Given the description of an element on the screen output the (x, y) to click on. 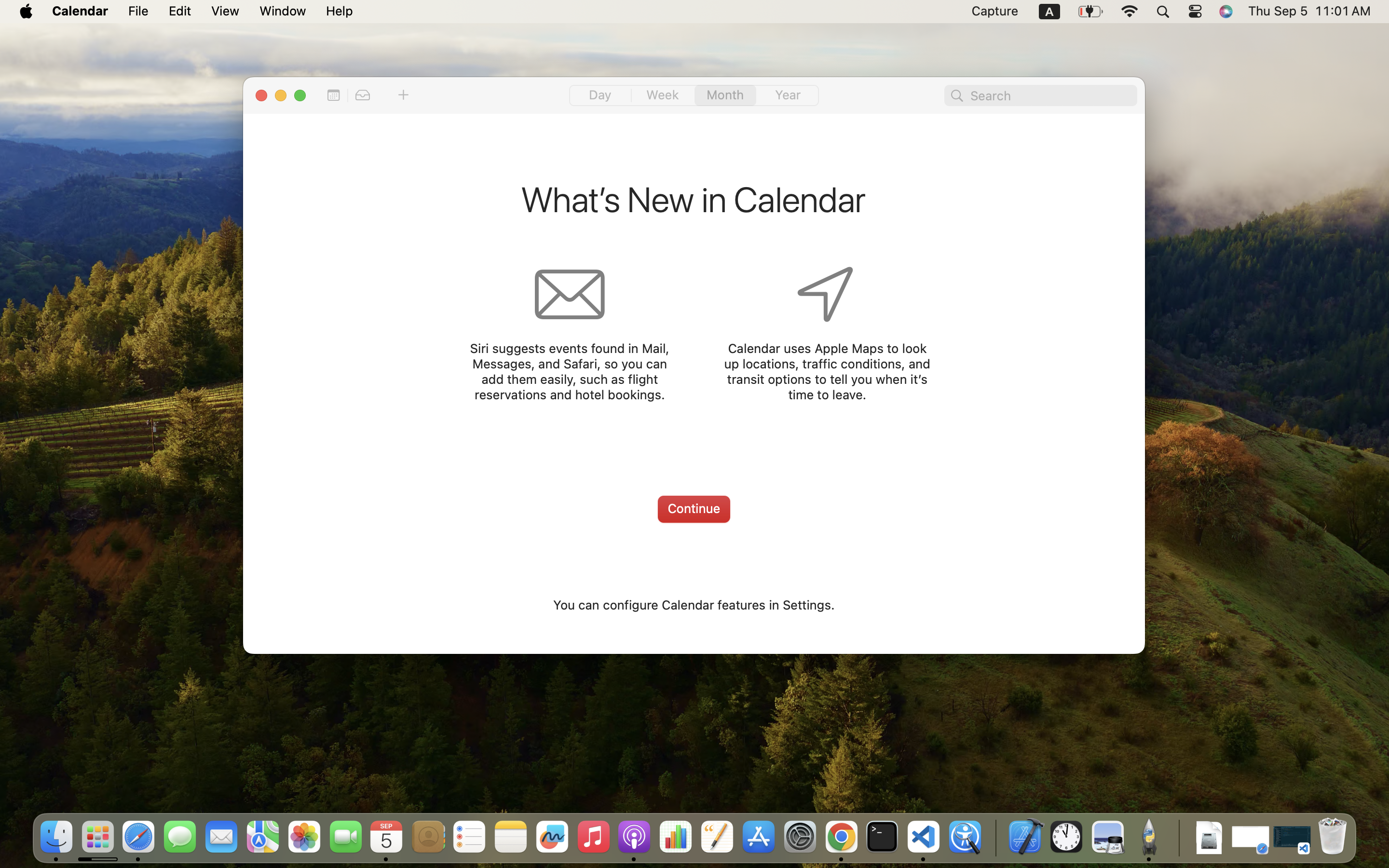
Calendar uses Apple Maps to look up locations, traffic conditions, and transit options to tell you when it’s time to leave. Element type: AXStaticText (826, 371)
You can configure Calendar features in Settings. Element type: AXStaticText (693, 604)
What’s New in Calendar Element type: AXStaticText (693, 201)
Siri suggests events found in Mail, Messages, and Safari, so you can add them easily, such as flight reservations and hotel bookings. Element type: AXStaticText (568, 371)
